Given the description of an element on the screen output the (x, y) to click on. 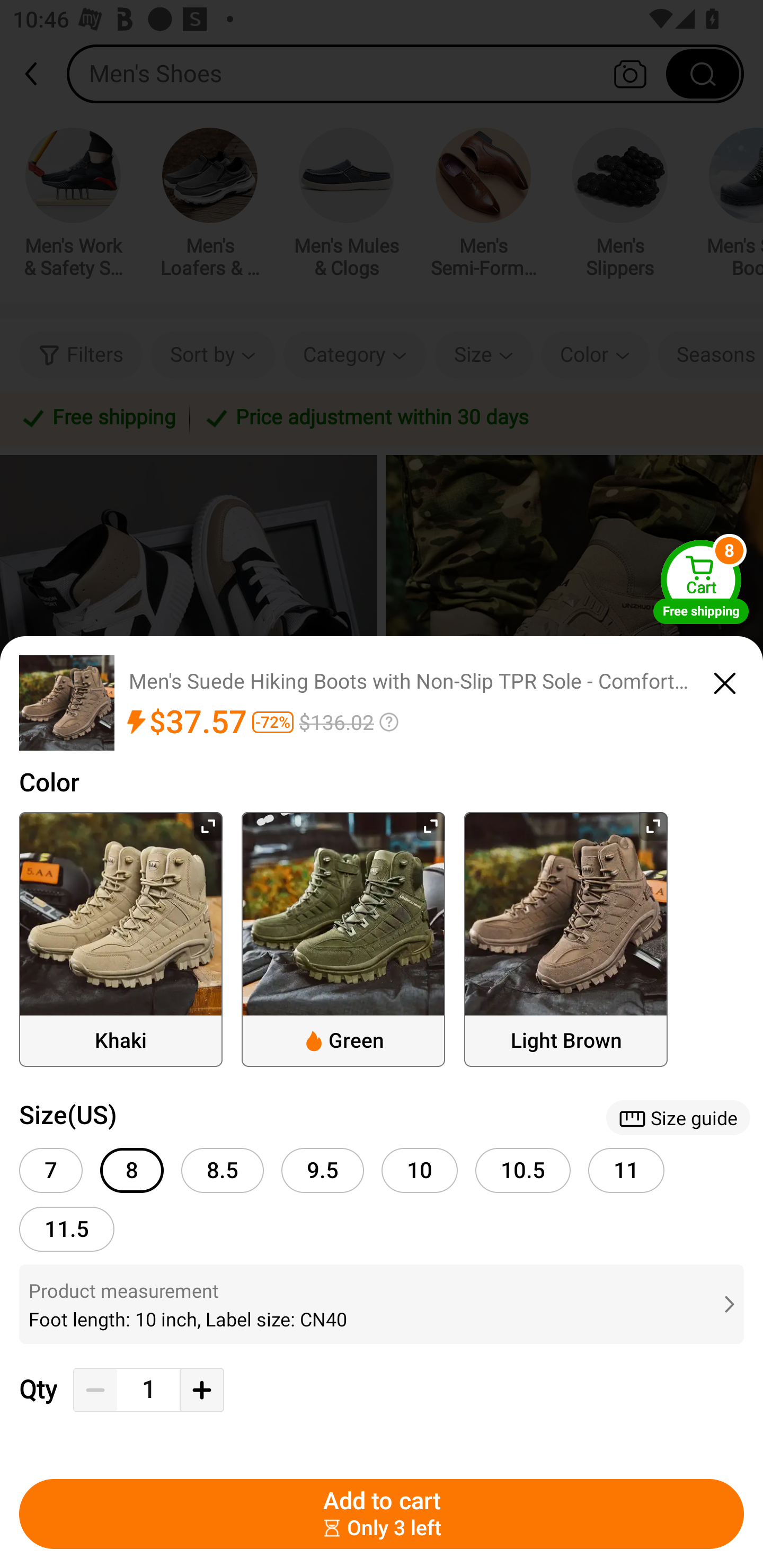
Cart Free shipping Cart (701, 581)
close (724, 680)
Khaki (120, 939)
Green ￼Green (342, 939)
Light Brown (565, 939)
￼Size guide (677, 1117)
 7 (50, 1170)
 8 (131, 1170)
 8.5 (222, 1170)
 9.5 (322, 1170)
 10 (419, 1170)
 10.5 (522, 1170)
 11 (626, 1170)
 11.5 (66, 1229)
Decrease Quantity Button (95, 1389)
Add Quantity Button (201, 1389)
1 (148, 1389)
Add to cart ￼￼Only 3 left (381, 1513)
